Given the description of an element on the screen output the (x, y) to click on. 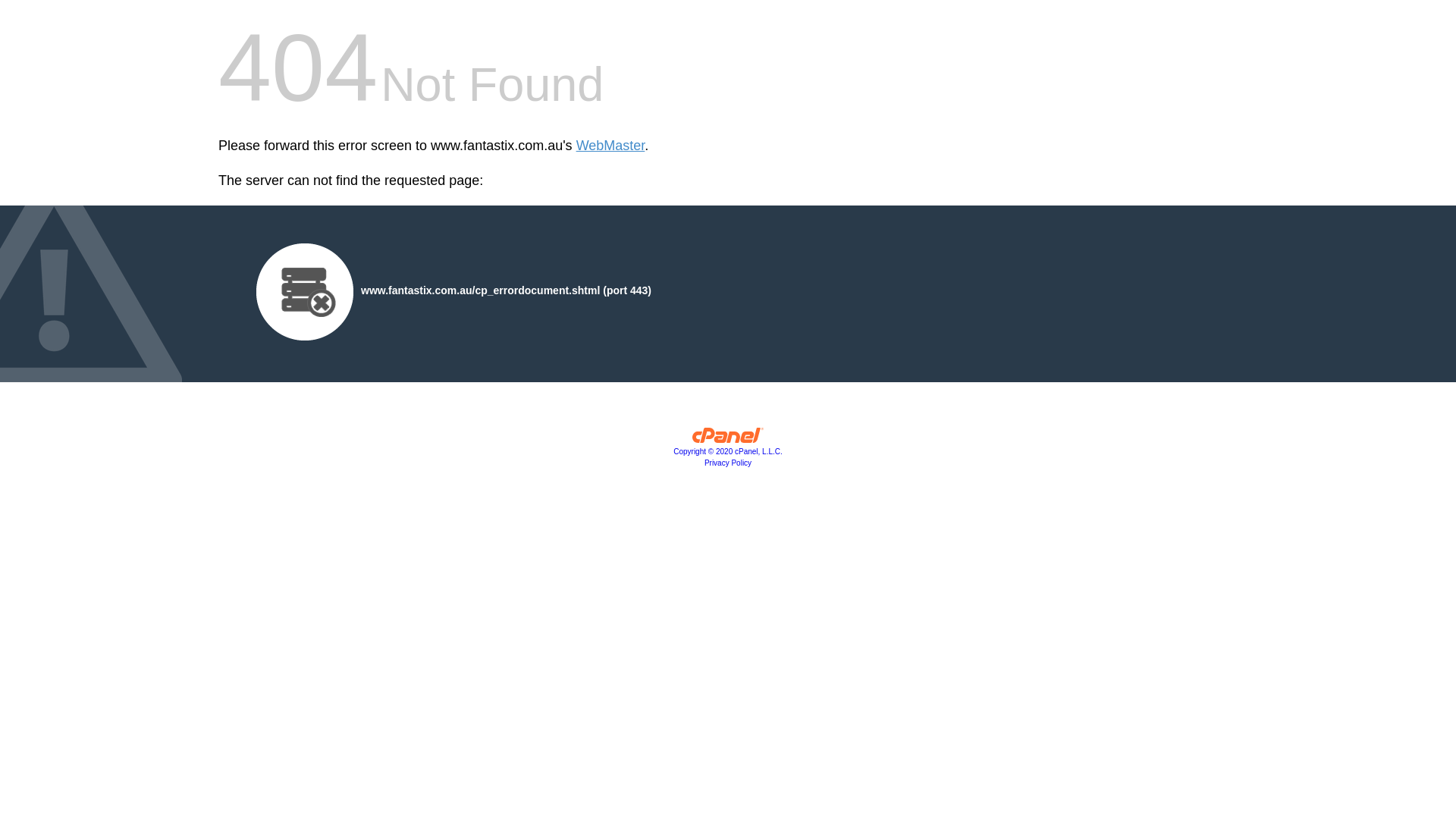
WebMaster Element type: text (610, 145)
cPanel, Inc. Element type: hover (728, 439)
Privacy Policy Element type: text (727, 462)
